Given the description of an element on the screen output the (x, y) to click on. 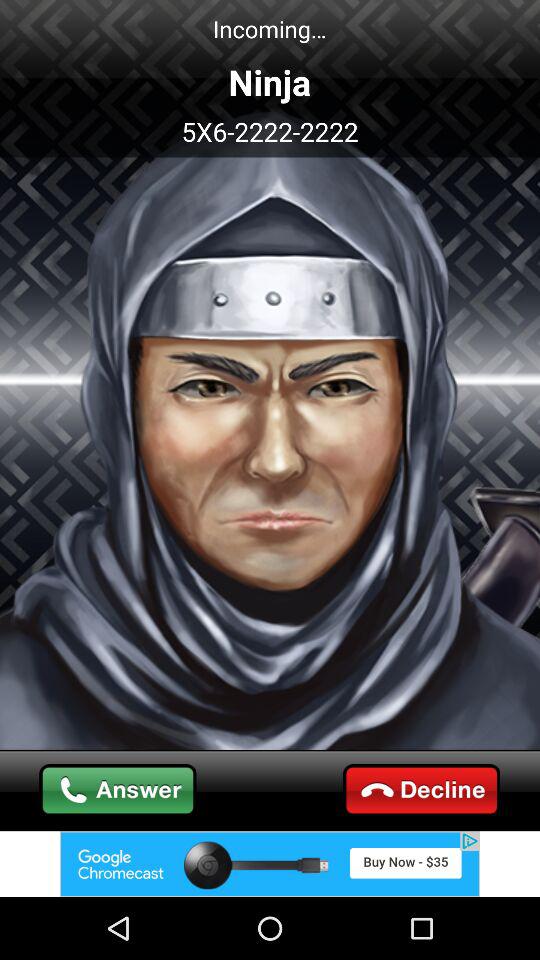
answer call (117, 790)
